Given the description of an element on the screen output the (x, y) to click on. 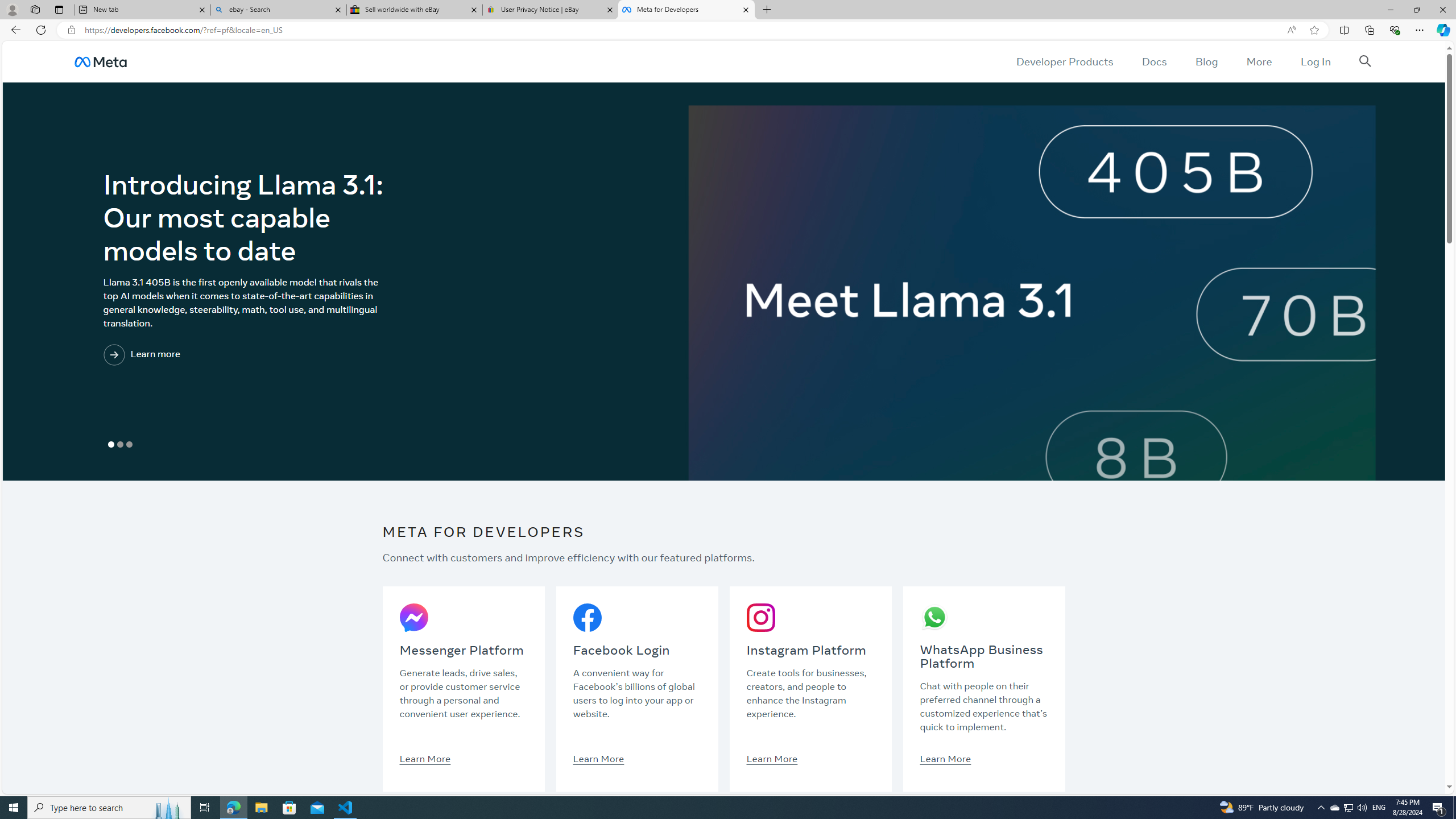
AutomationID: u_0_25_3H (100, 61)
User Privacy Notice | eBay (550, 9)
Log In (1315, 61)
Developer Products (1064, 61)
Address and search bar (680, 29)
Show Slide 2 (119, 444)
Docs (1153, 61)
